Given the description of an element on the screen output the (x, y) to click on. 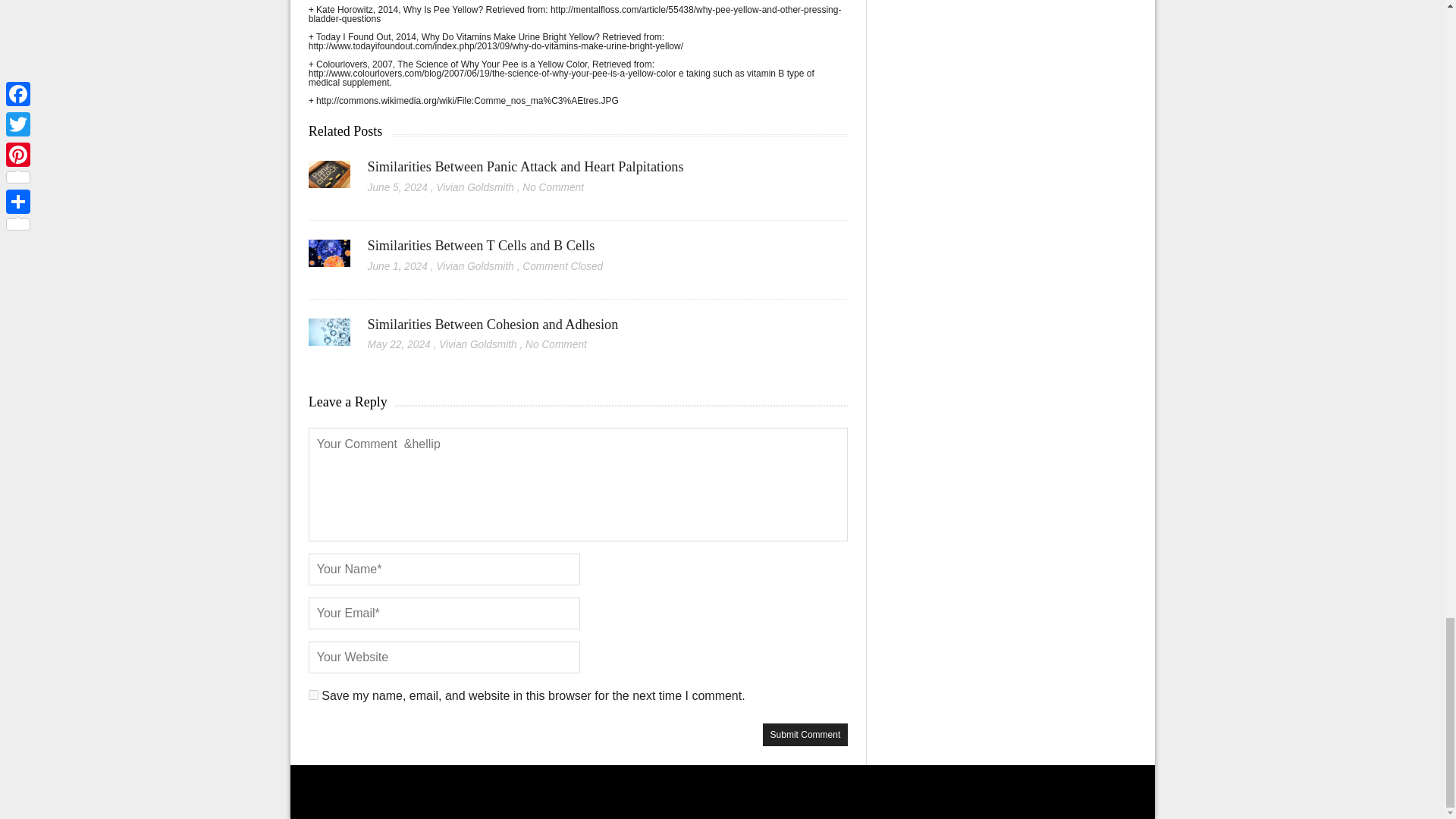
Posts by Vivian Goldsmith (474, 266)
Posts by Vivian Goldsmith (474, 187)
Vivian Goldsmith (474, 266)
Similarities Between Panic Attack and Heart Palpitations (329, 180)
Similarities Between T Cells and B Cells (481, 245)
Similarities Between Cohesion and Adhesion (329, 337)
Similarities Between T Cells and B Cells (329, 258)
Similarities Between Cohesion and Adhesion (493, 324)
Submit Comment (805, 734)
Similarities Between Cohesion and Adhesion (493, 324)
yes (313, 695)
Posts by Vivian Goldsmith (477, 344)
Vivian Goldsmith (474, 187)
No Comment (552, 187)
Vivian Goldsmith (477, 344)
